Given the description of an element on the screen output the (x, y) to click on. 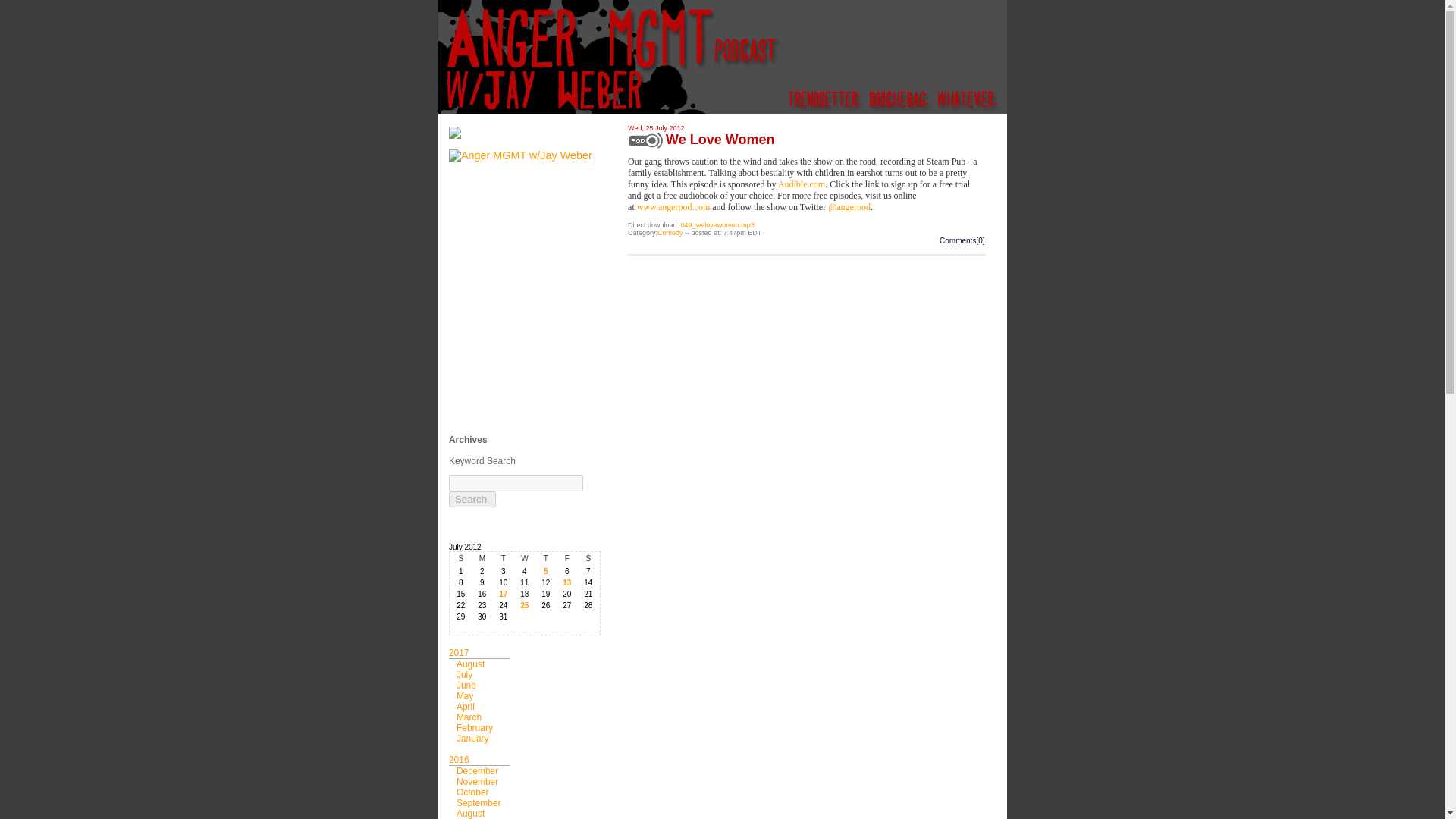
13 (566, 582)
25 (524, 605)
2017 (458, 652)
5 (545, 571)
July (464, 674)
June (466, 685)
August (470, 664)
April (465, 706)
Thursday (545, 558)
November (477, 781)
